Given the description of an element on the screen output the (x, y) to click on. 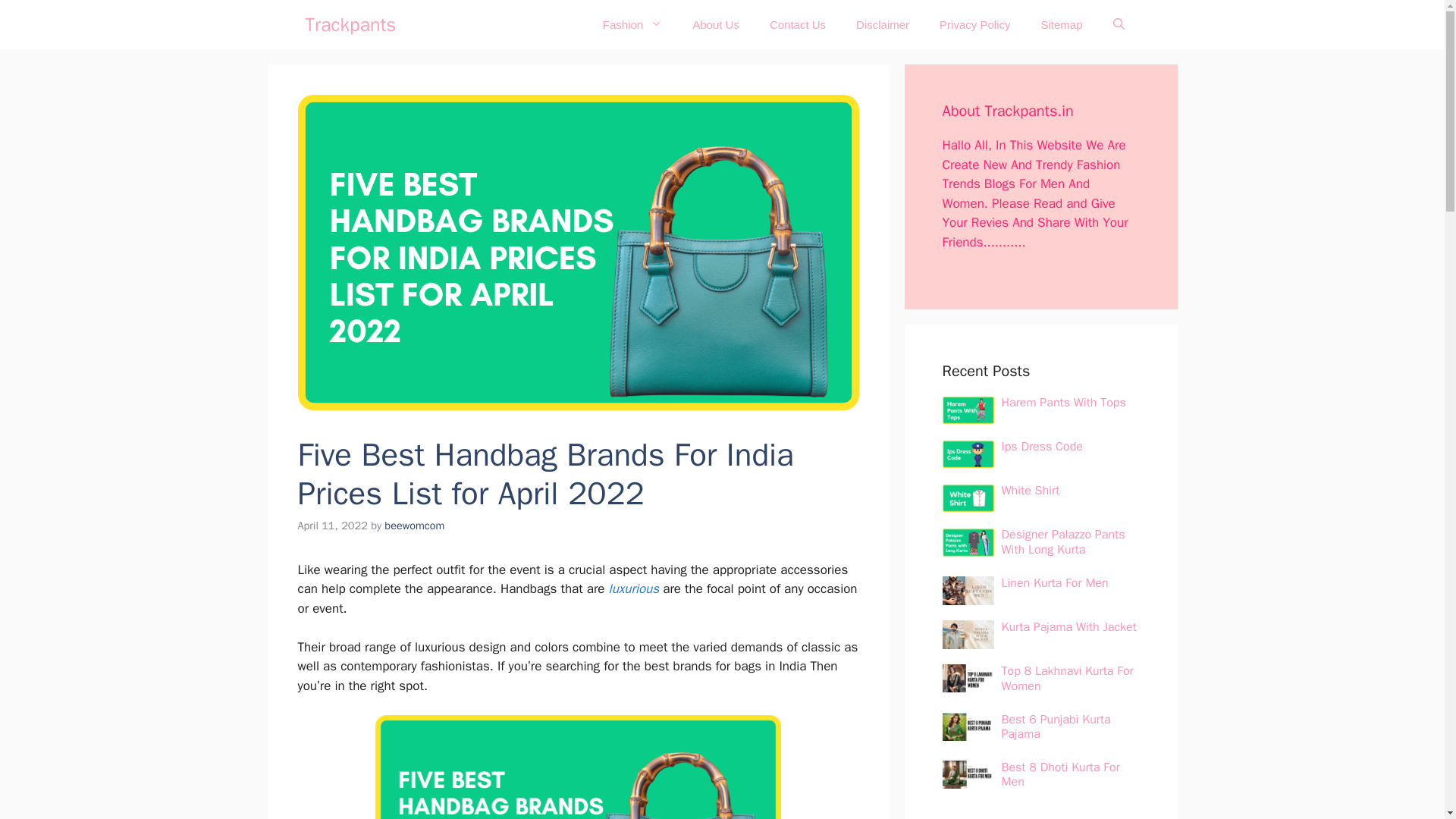
View all posts by beewomcom (414, 525)
Sitemap (1061, 23)
Best 8 Dhoti Kurta For Men (1060, 774)
Best 6 Punjabi Kurta Pajama (1055, 726)
Harem Pants With Tops (1063, 401)
Linen Kurta For Men (1054, 582)
Designer Palazzo Pants With Long Kurta (1062, 541)
Privacy Policy (974, 23)
Trackpants (350, 24)
Contact Us (797, 23)
luxurious (633, 588)
Top 8 Lakhnavi Kurta For Women (1066, 677)
Disclaimer (882, 23)
Kurta Pajama With Jacket (1068, 626)
beewomcom (414, 525)
